Given the description of an element on the screen output the (x, y) to click on. 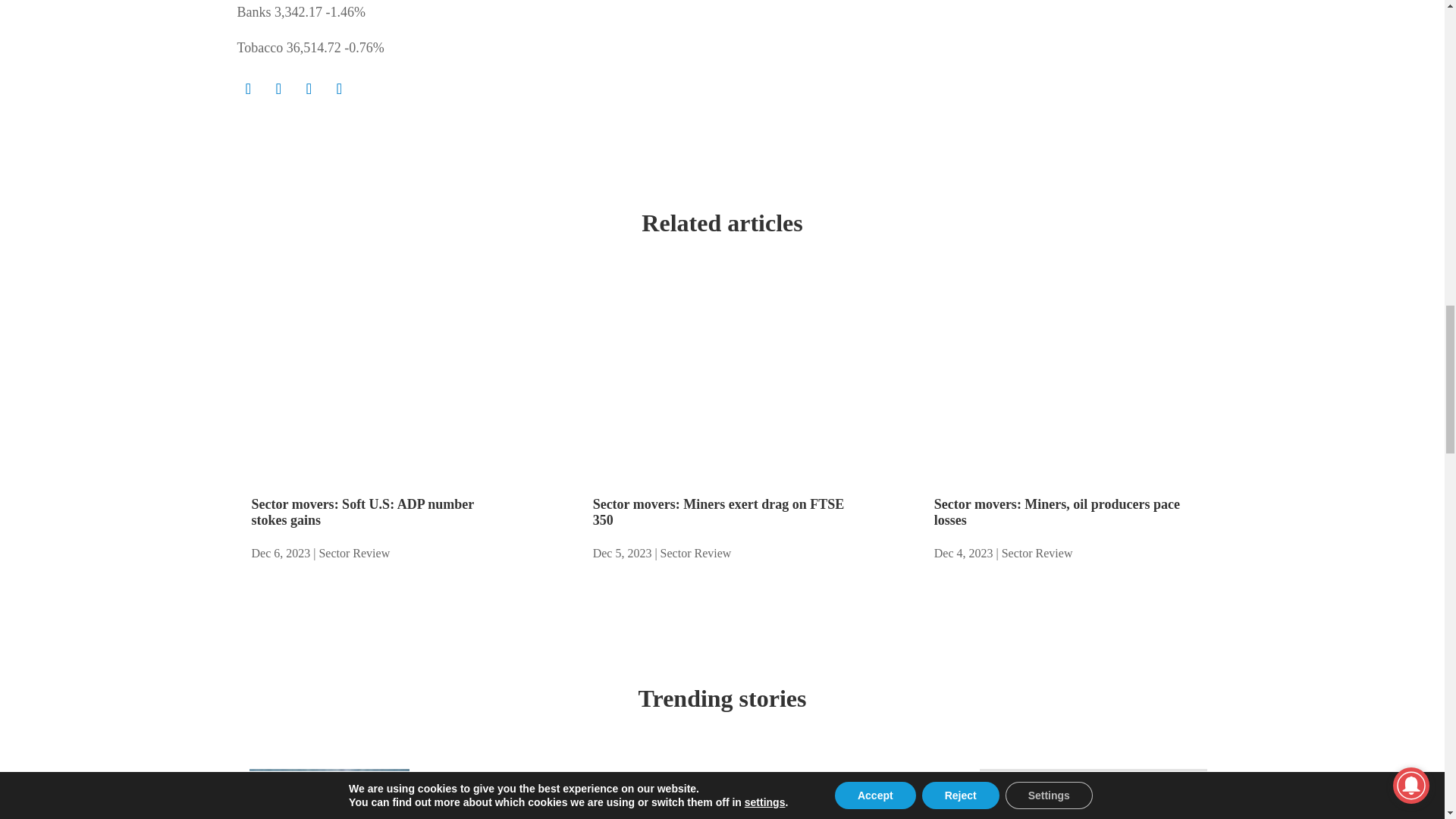
Sector movers: Miners, oil producers pace losses (1056, 512)
Sector Review (696, 553)
Sector Review (1037, 553)
Sector movers: Miners exert drag on FTSE 350 (718, 512)
Sector movers: Soft U.S: ADP number stokes gains (362, 512)
Sector Review (354, 553)
Featured (443, 809)
